Given the description of an element on the screen output the (x, y) to click on. 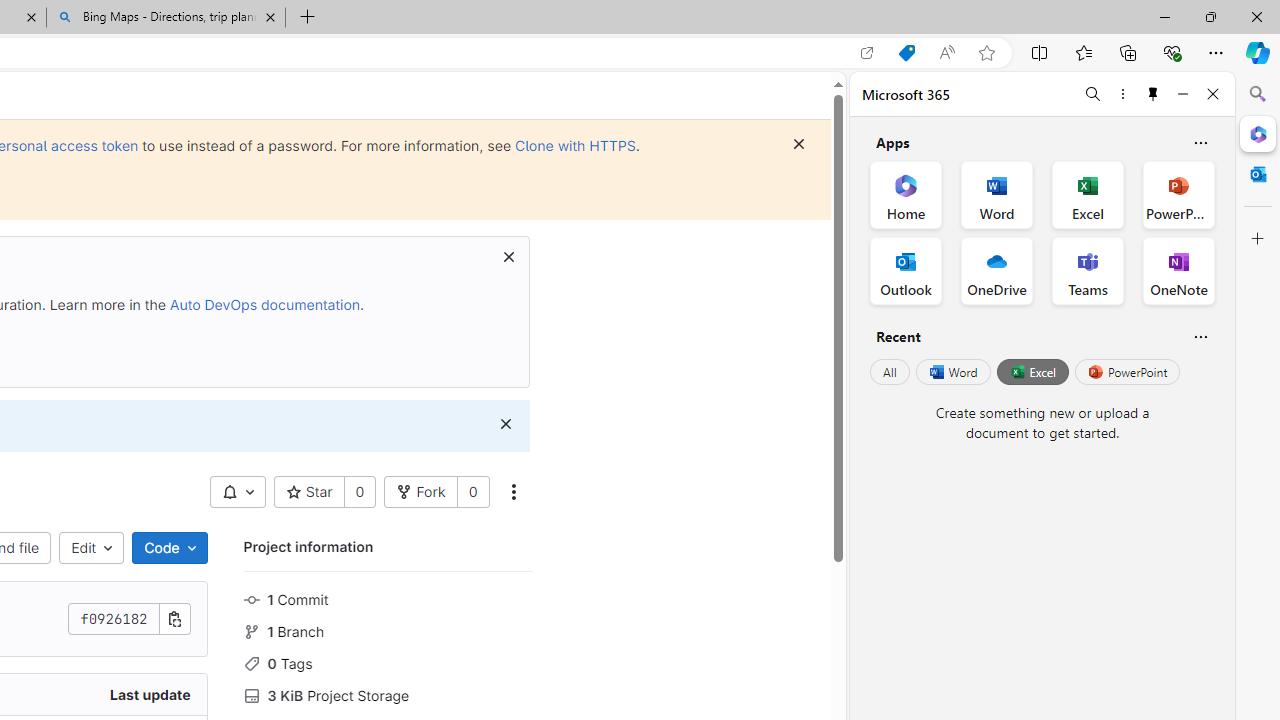
Customize (1258, 239)
Minimize (1182, 93)
Collections (1128, 52)
Read aloud this page (Ctrl+Shift+U) (946, 53)
OneNote Office App (1178, 270)
Dismiss Auto DevOps box (508, 256)
Microsoft 365 (1258, 133)
More actions (512, 491)
Edit (91, 547)
Favorites (1083, 52)
Shopping in Microsoft Edge (906, 53)
Auto DevOps documentation (264, 304)
 Star (308, 491)
1 Branch (387, 629)
3 KiB Project Storage (387, 693)
